Given the description of an element on the screen output the (x, y) to click on. 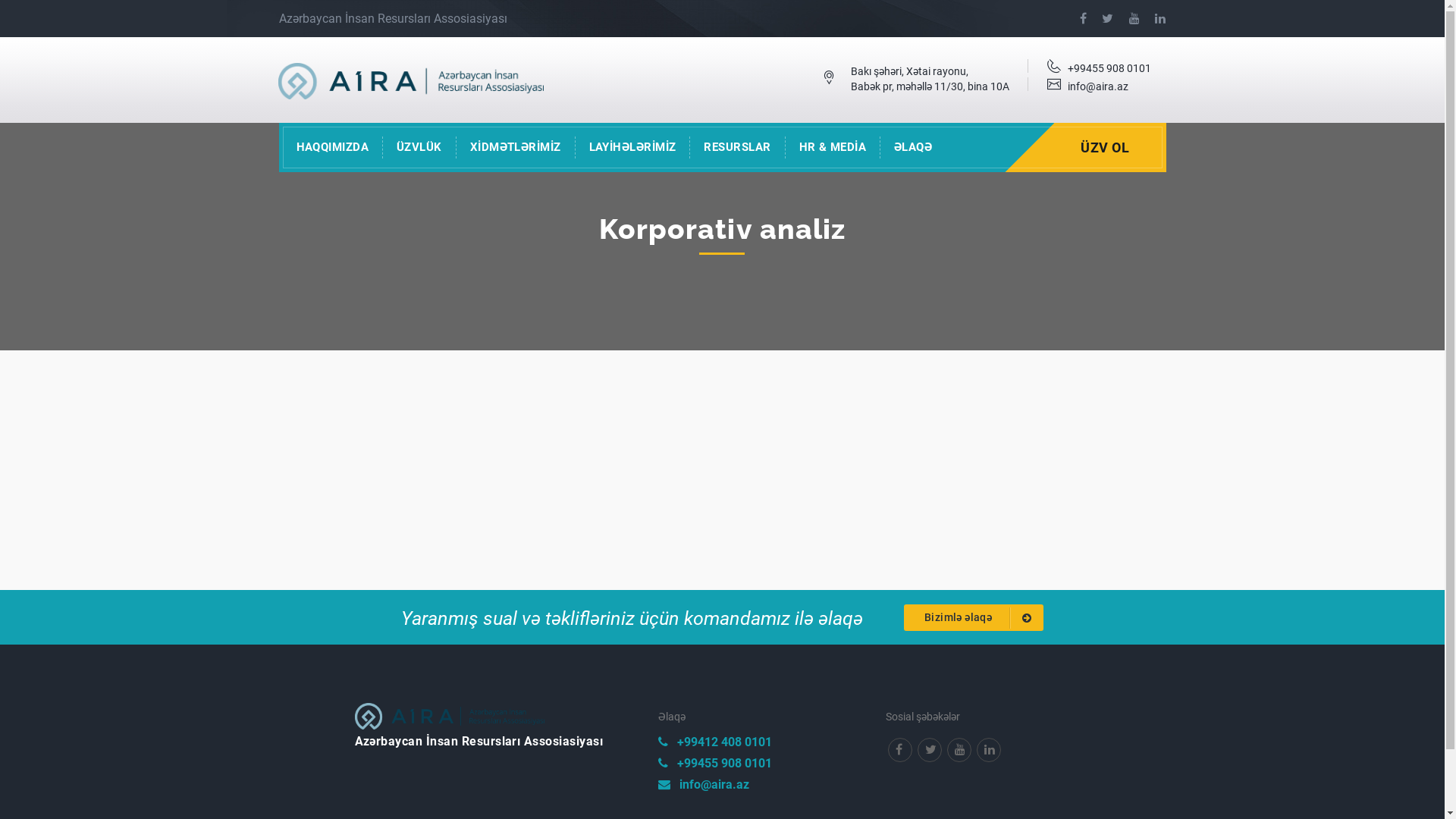
RESURSLAR Element type: text (737, 147)
HAQQIMIZDA Element type: text (332, 147)
